Given the description of an element on the screen output the (x, y) to click on. 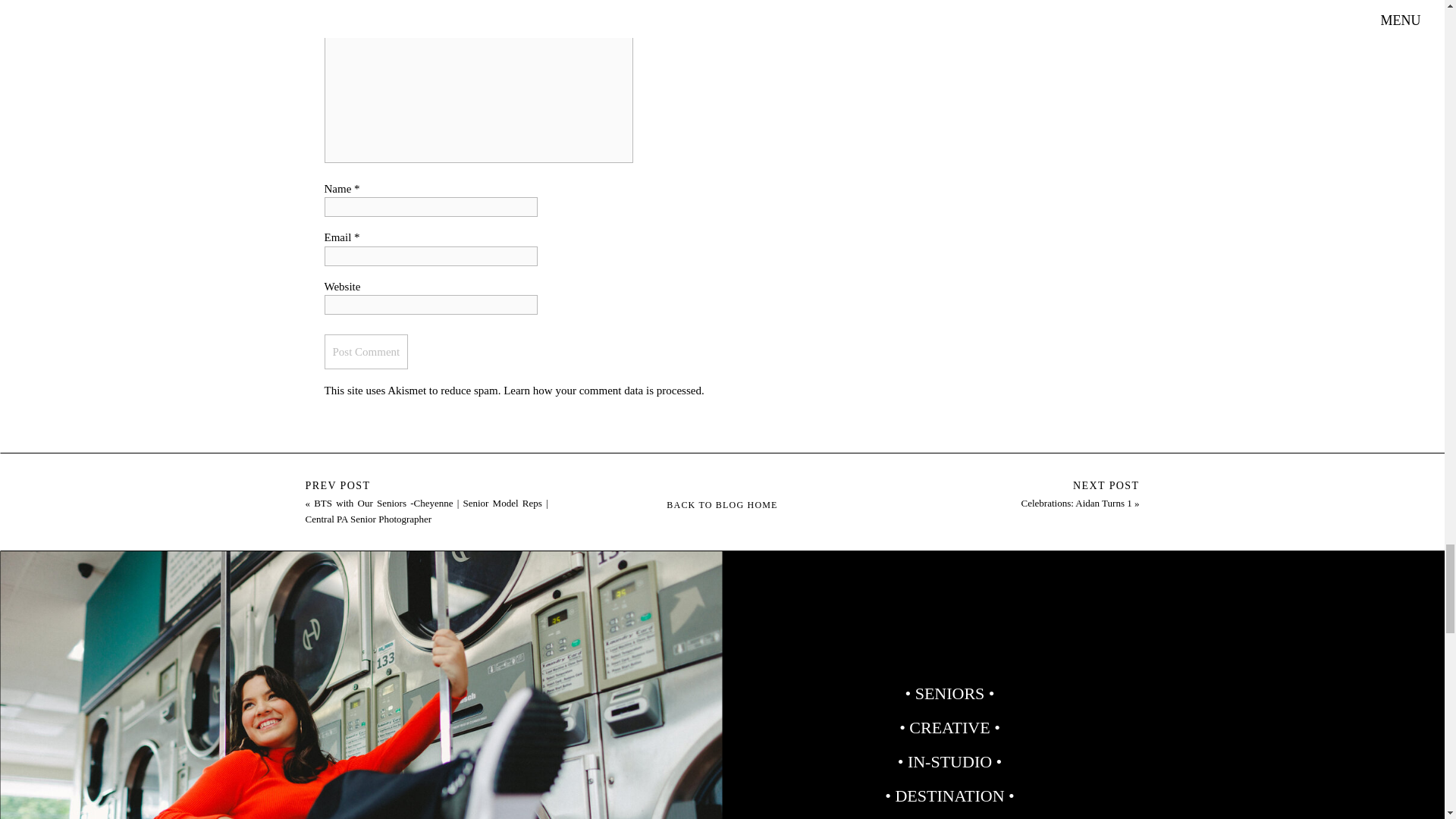
Celebrations: Aidan Turns 1 (1075, 502)
Post Comment (366, 351)
BACK TO BLOG HOME (722, 503)
Learn how your comment data is processed (602, 390)
Post Comment (366, 351)
